Given the description of an element on the screen output the (x, y) to click on. 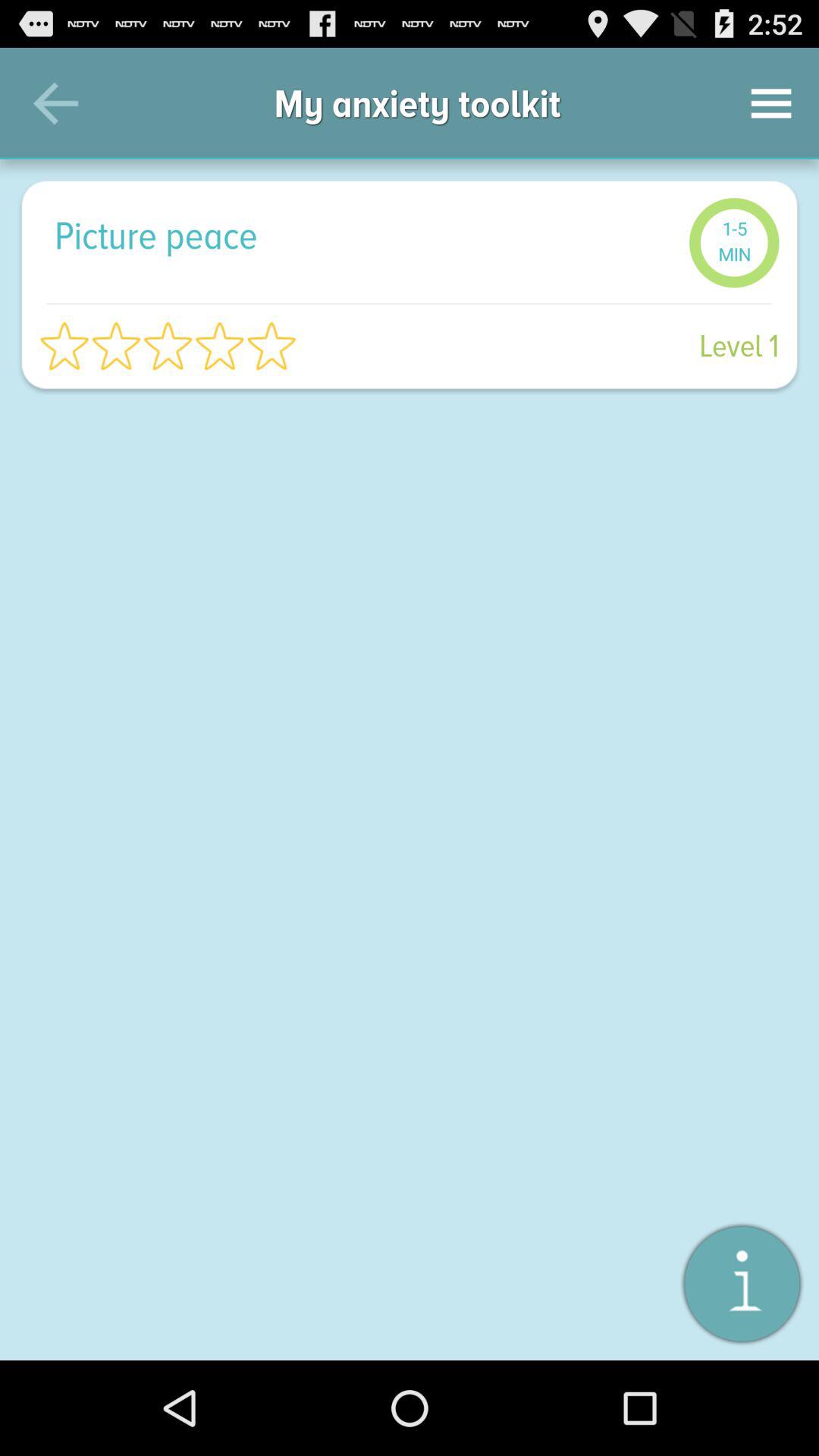
jump to the level 1 (546, 345)
